Given the description of an element on the screen output the (x, y) to click on. 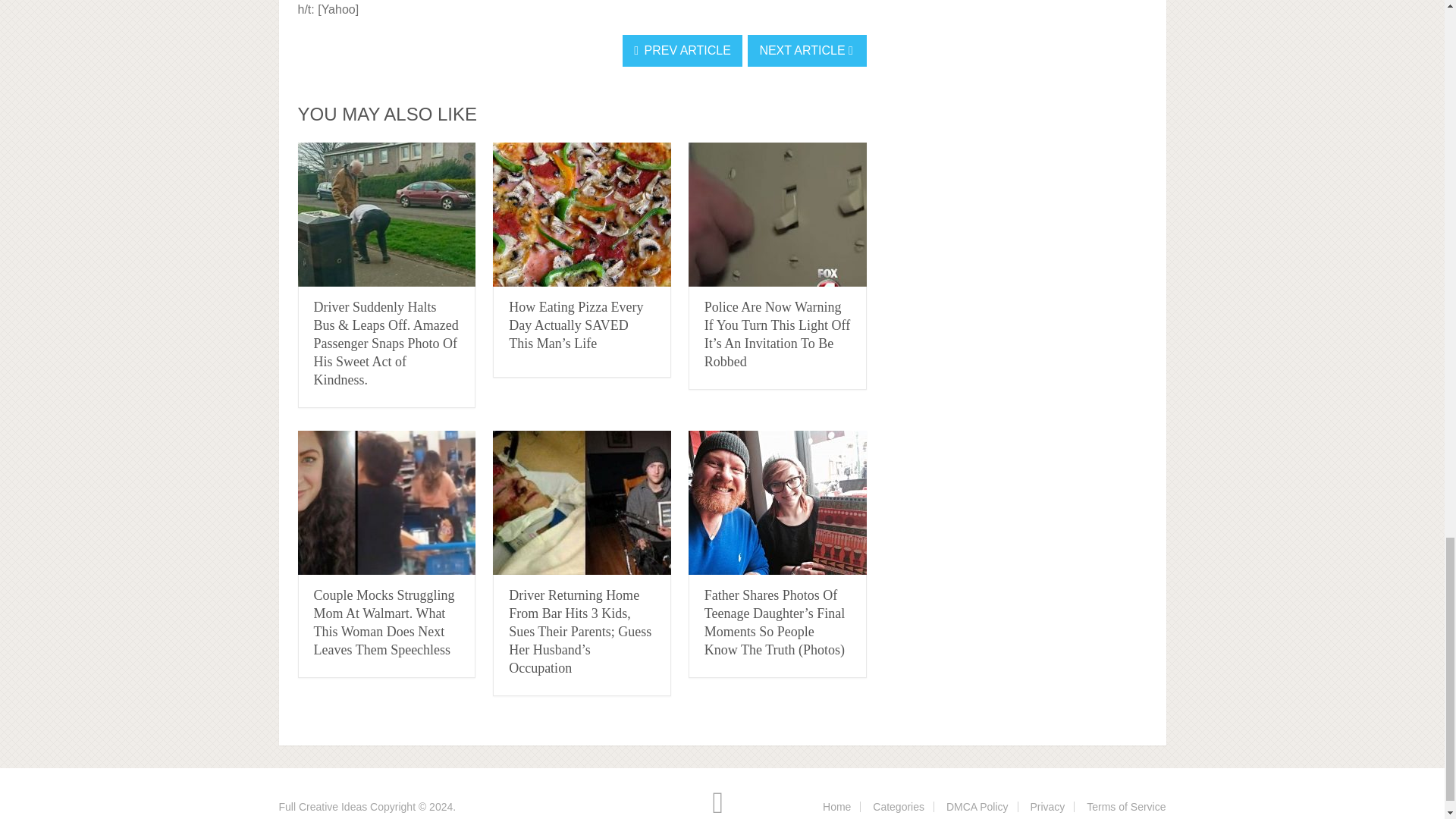
Home (836, 806)
Privacy (1046, 806)
Terms of Service (1126, 806)
PREV ARTICLE (682, 50)
DMCA Policy (977, 806)
Categories (898, 806)
Full Creative Ideas (323, 806)
NEXT ARTICLE (807, 50)
